Given the description of an element on the screen output the (x, y) to click on. 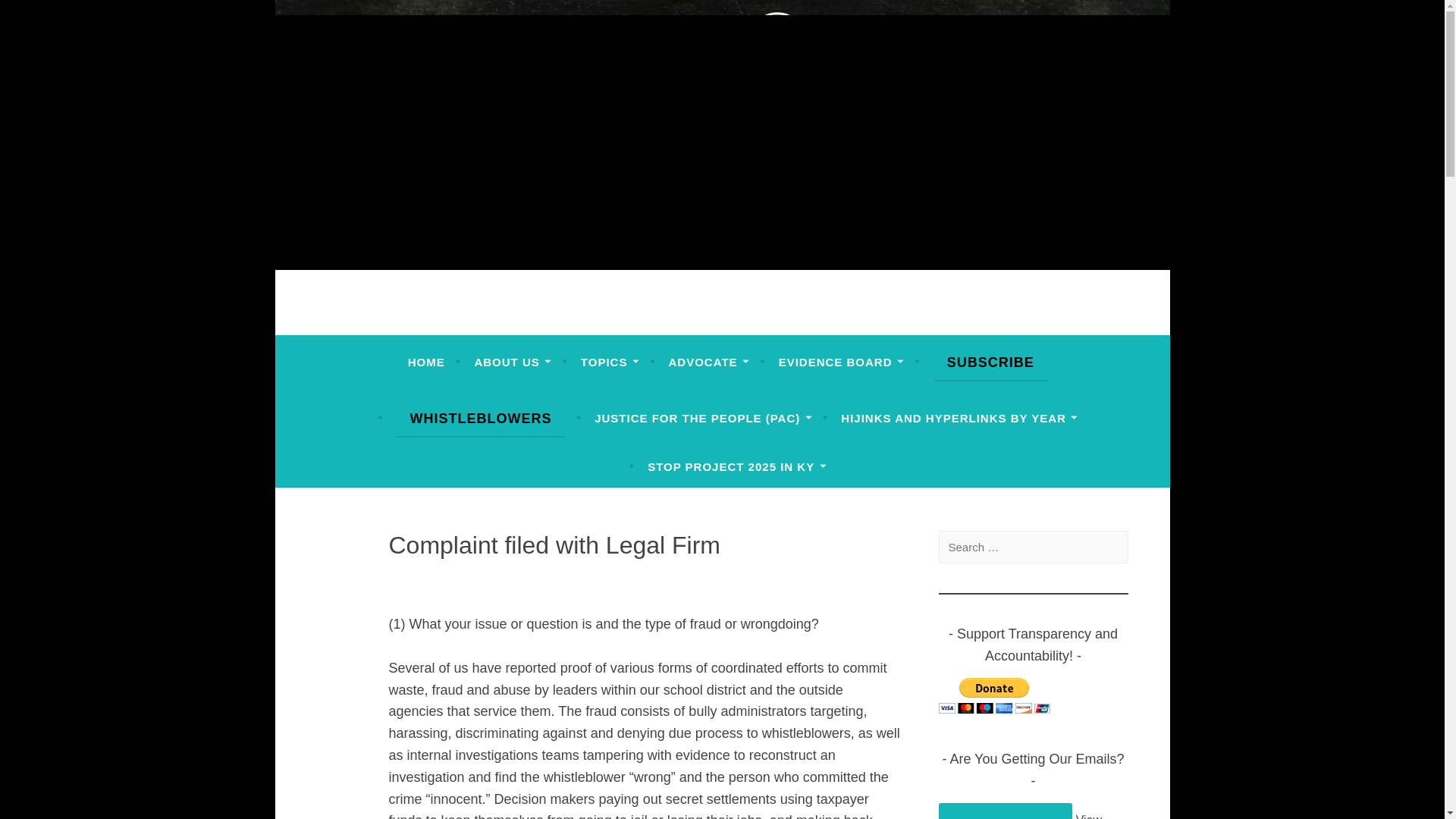
ABOUT US (512, 361)
TOPICS (609, 361)
Dear JCPS (394, 321)
ADVOCATE (708, 361)
HOME (426, 361)
